Given the description of an element on the screen output the (x, y) to click on. 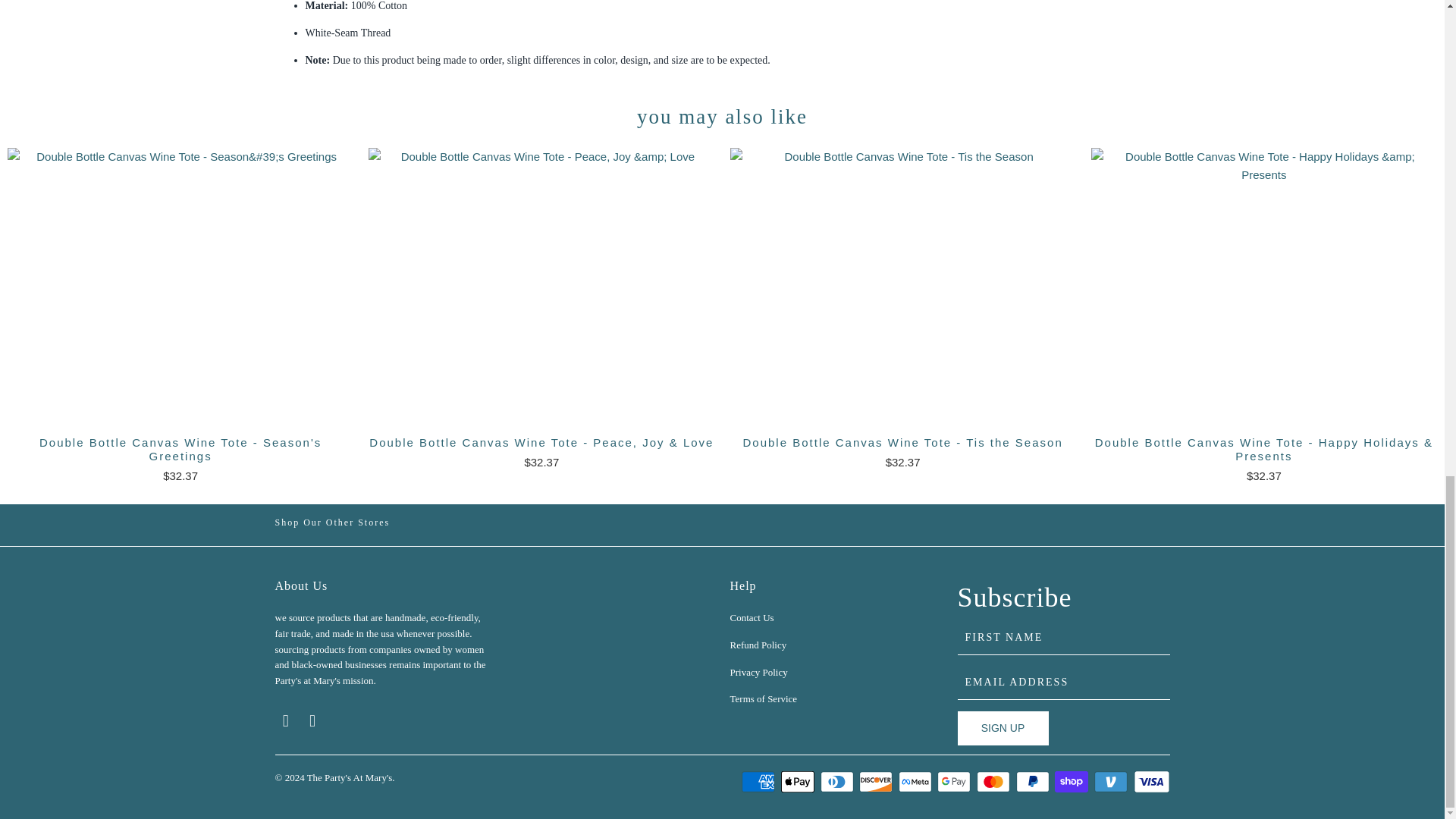
Discover (877, 781)
Apple Pay (798, 781)
PayPal (1034, 781)
The Party's At Mary's on Instagram (312, 720)
Meta Pay (916, 781)
Sign Up (1002, 728)
American Express (759, 781)
Diners Club (839, 781)
Shop Pay (1072, 781)
Mastercard (994, 781)
